Given the description of an element on the screen output the (x, y) to click on. 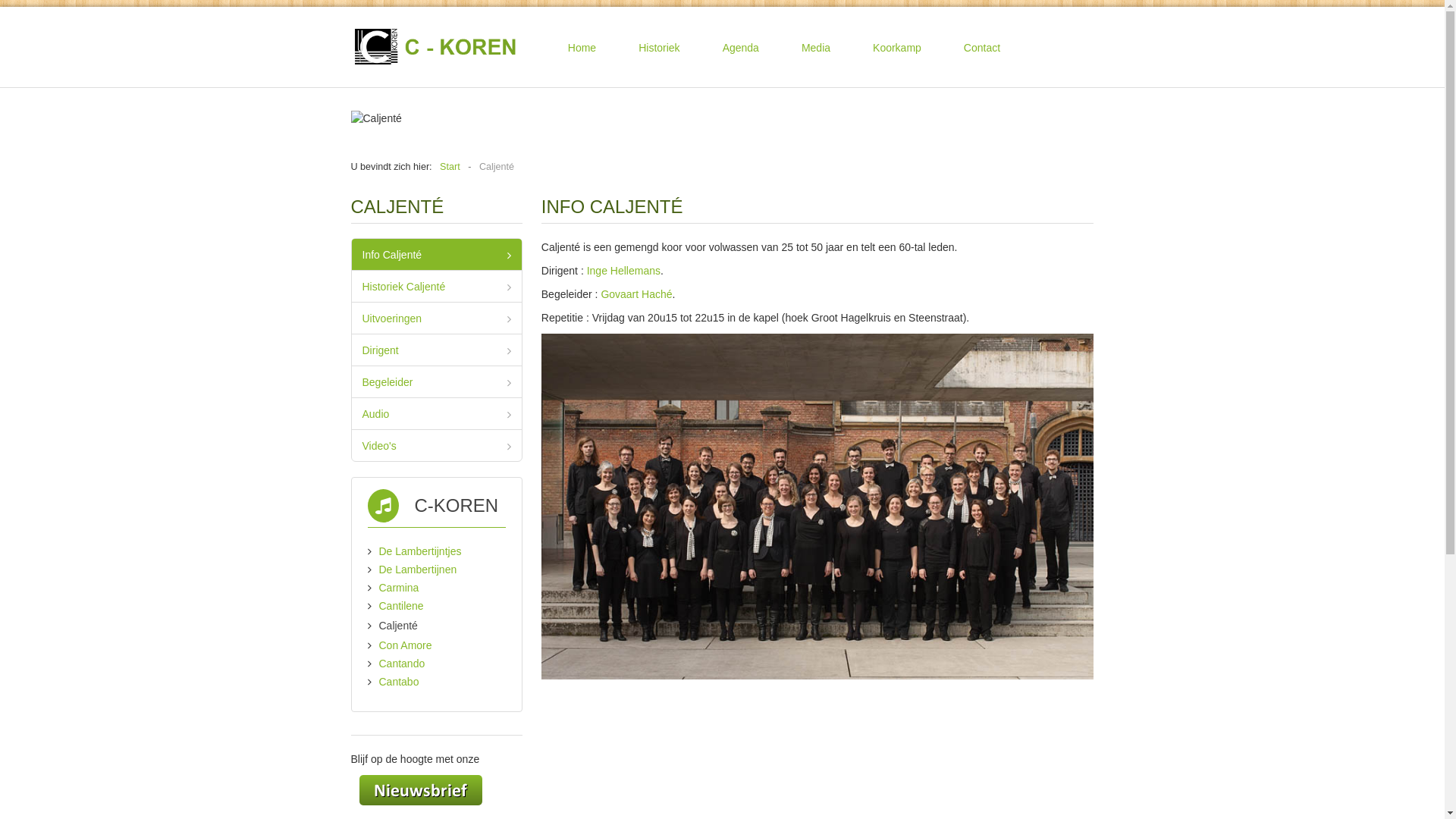
Video's Element type: text (436, 445)
Koorkamp Element type: text (896, 47)
Uitvoeringen Element type: text (436, 317)
Dirigent Element type: text (436, 349)
Home Element type: text (581, 47)
Begeleider Element type: text (436, 381)
Cantilene Element type: text (401, 605)
Carmina Element type: text (399, 587)
Media Element type: text (815, 47)
Agenda Element type: text (740, 47)
Cantando Element type: text (402, 663)
De Lambertijnen Element type: text (418, 569)
   Element type: text (354, 789)
De Lambertijntjes Element type: text (420, 551)
Cantabo Element type: text (399, 681)
Con Amore Element type: text (405, 645)
Contact Element type: text (981, 47)
Inge Hellemans Element type: text (623, 270)
Historiek Element type: text (658, 47)
Audio Element type: text (436, 413)
Start Element type: text (449, 166)
